Given the description of an element on the screen output the (x, y) to click on. 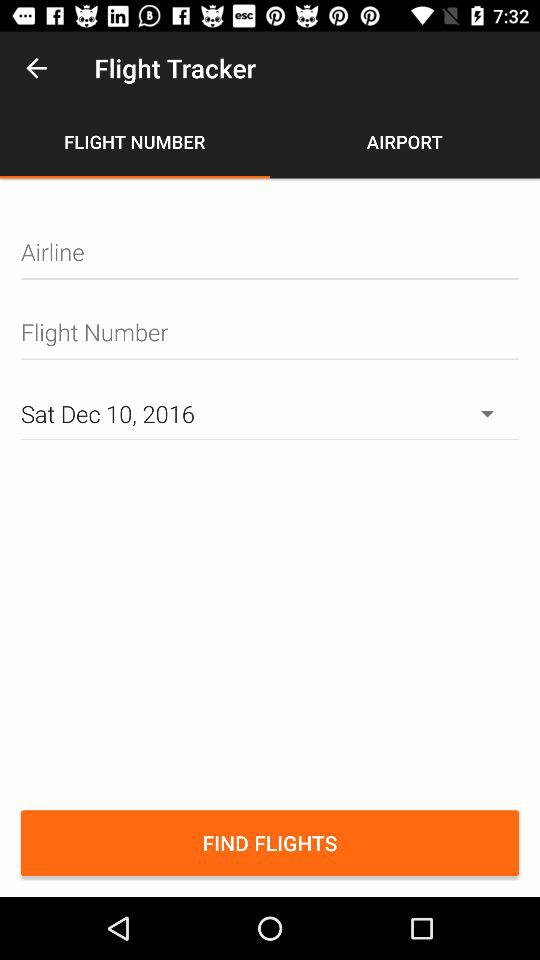
enter flight number (270, 332)
